Given the description of an element on the screen output the (x, y) to click on. 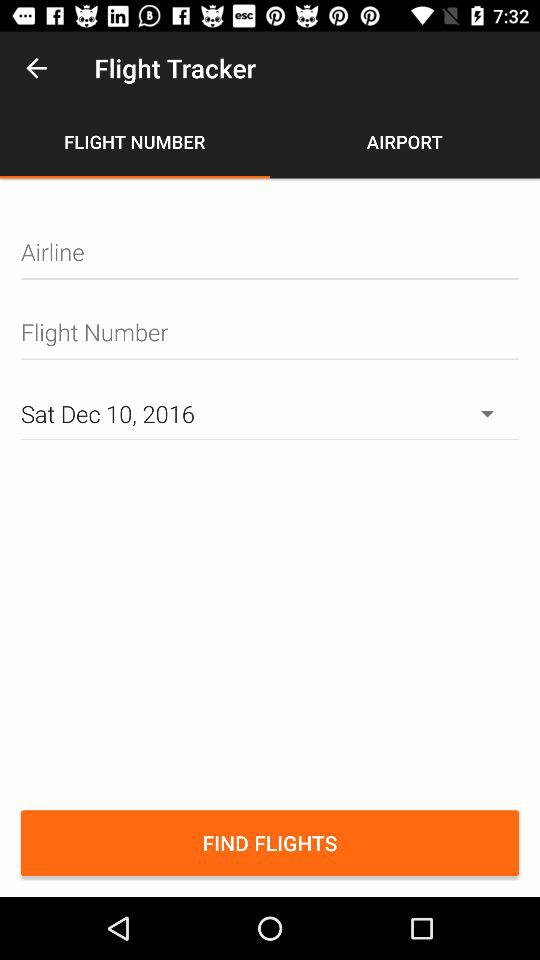
enter flight number (270, 332)
